Given the description of an element on the screen output the (x, y) to click on. 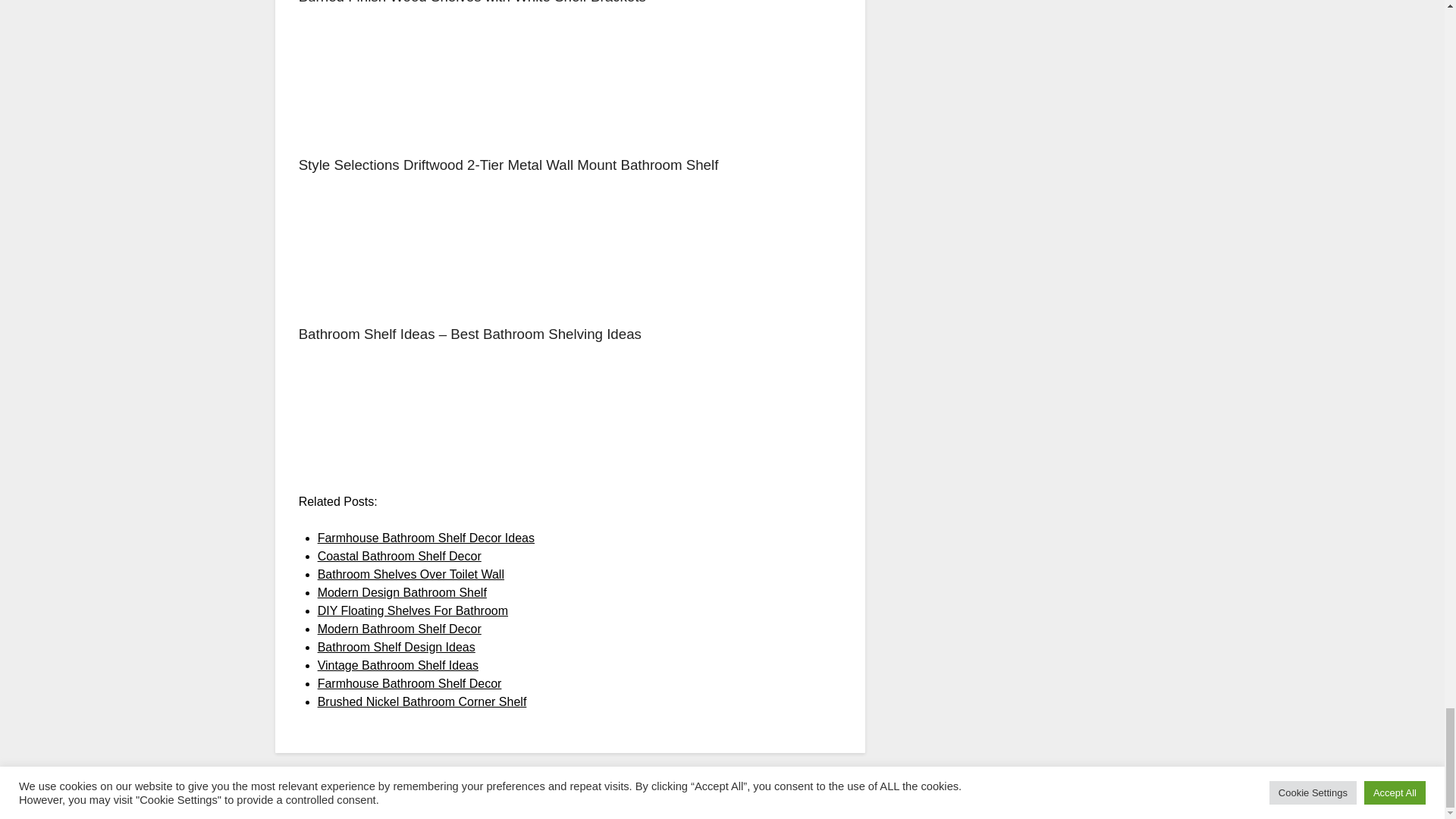
Farmhouse Bathroom Shelf Decor Ideas (425, 537)
Bathroom Shelf Design Ideas (396, 646)
Modern Bathroom Shelf Decor (399, 628)
Superbthemes.com (757, 797)
Bathroom Shelves Over Toilet Wall (410, 574)
Coastal Bathroom Shelf Decor (399, 555)
Modern Design Bathroom Shelf (401, 592)
DIY Floating Shelves For Bathroom (412, 610)
Vintage Bathroom Shelf Ideas (398, 665)
Bertena (890, 797)
Farmhouse Bathroom Shelf Decor (409, 683)
Brushed Nickel Bathroom Corner Shelf (422, 701)
